Given the description of an element on the screen output the (x, y) to click on. 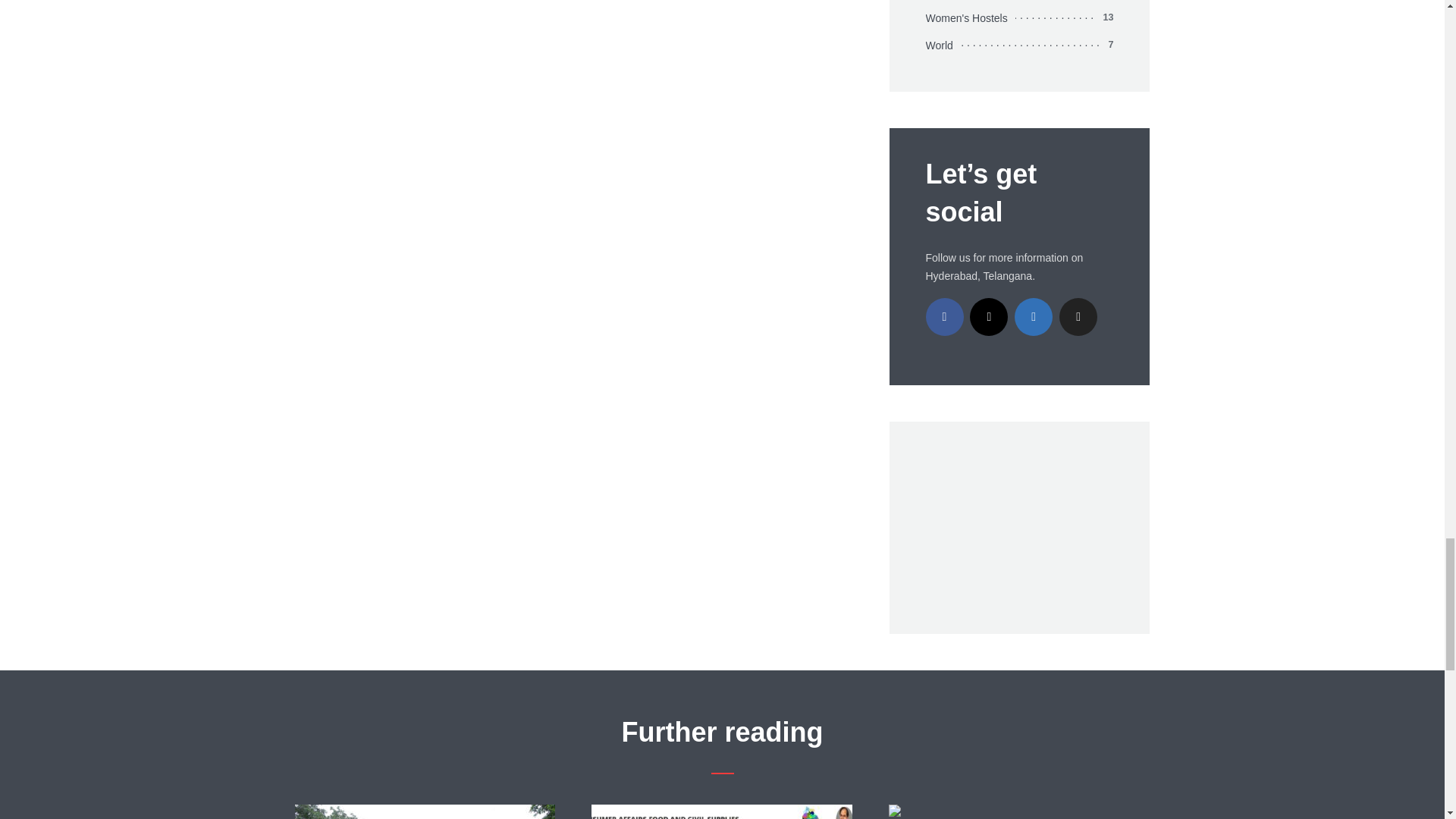
Facebook (943, 316)
Linkedin (1033, 316)
Instagram (988, 316)
